Given the description of an element on the screen output the (x, y) to click on. 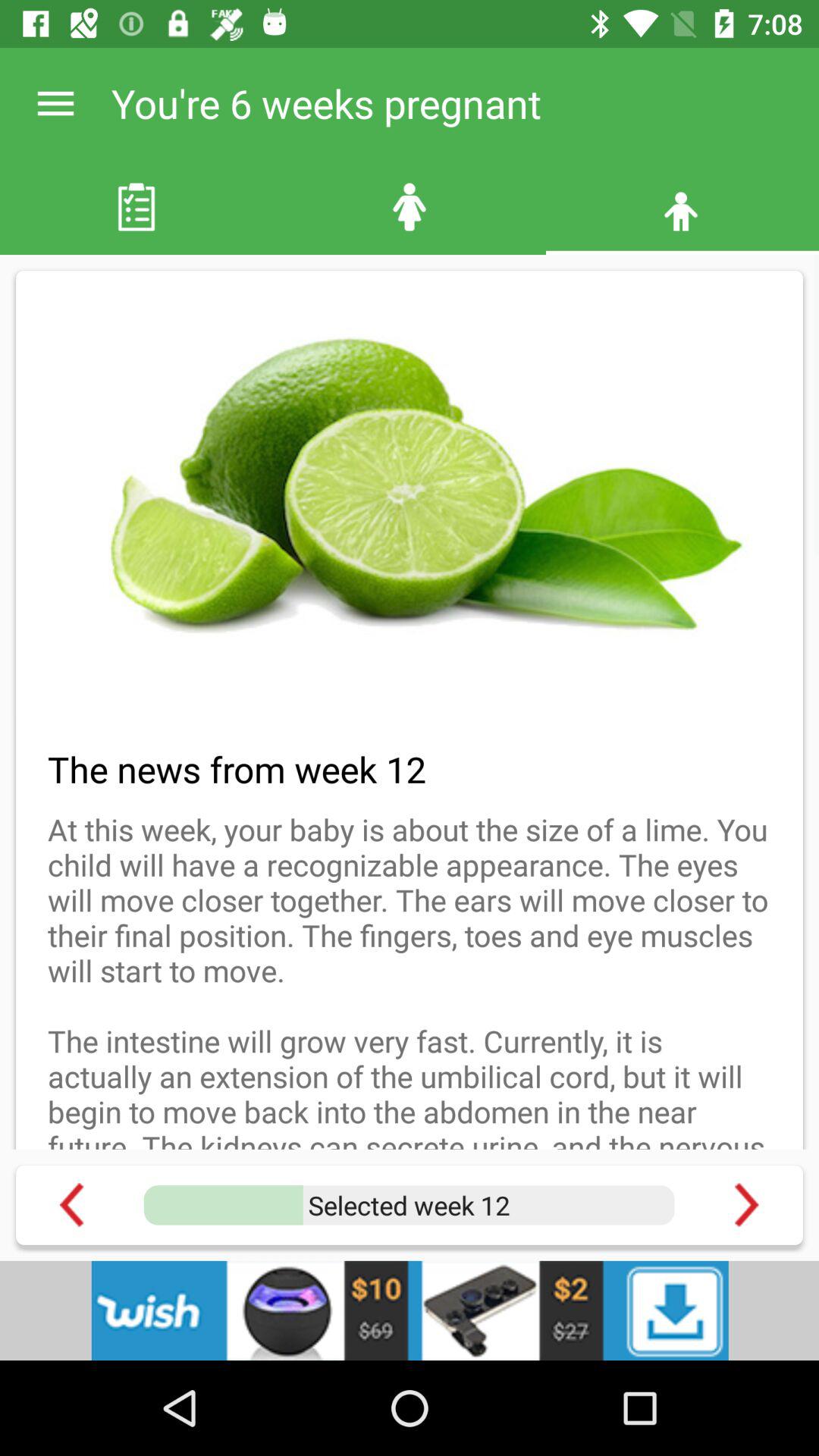
go to previous week (71, 1204)
